Given the description of an element on the screen output the (x, y) to click on. 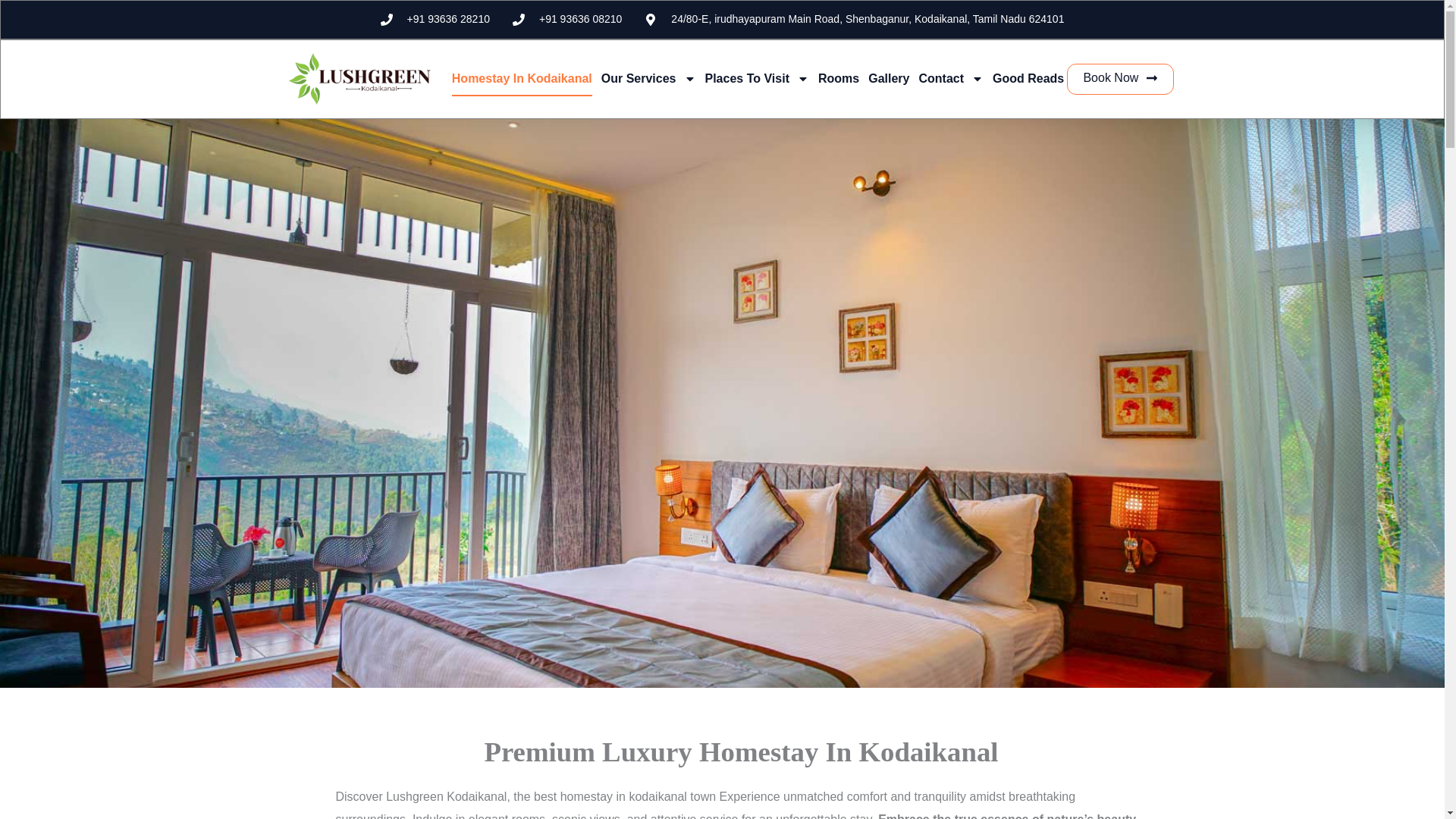
Contact (951, 78)
Places To Visit (756, 78)
Gallery (887, 78)
Our Services (648, 78)
Good Reads (1028, 78)
Homestay In Kodaikanal (521, 78)
Rooms (838, 78)
